Given the description of an element on the screen output the (x, y) to click on. 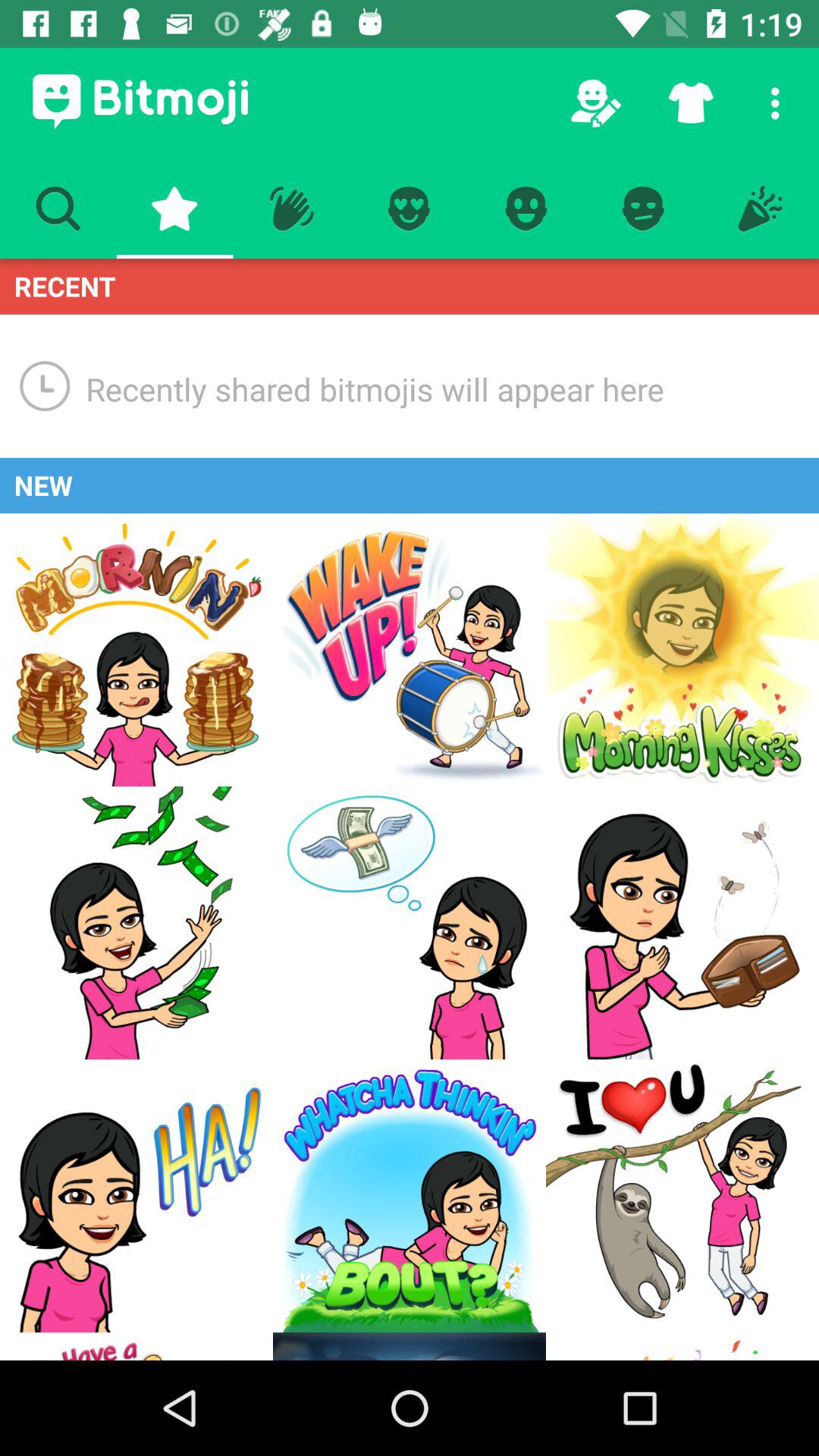
send ha emoji (136, 1195)
